Given the description of an element on the screen output the (x, y) to click on. 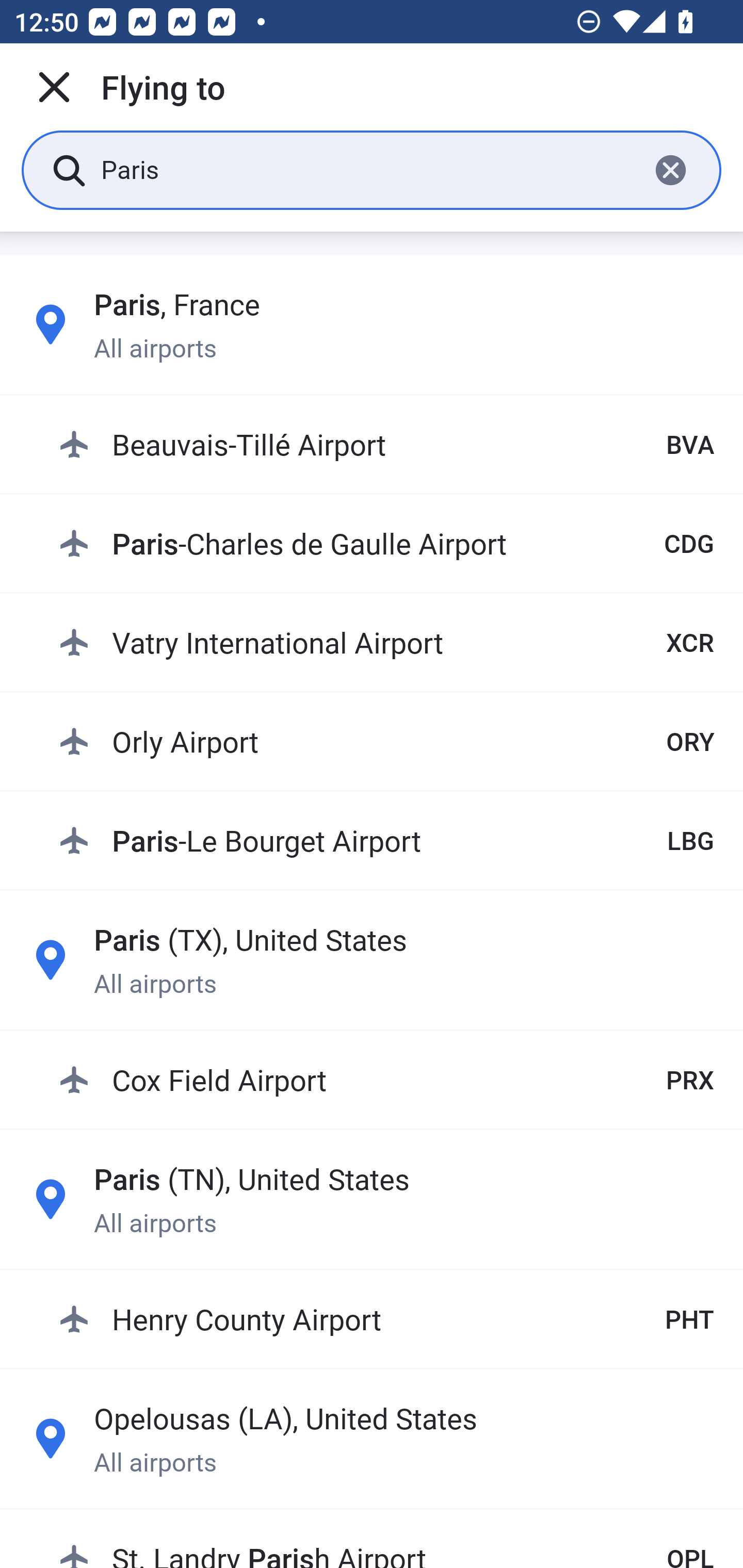
Paris (367, 169)
Paris, France All airports (371, 324)
Beauvais-Tillé Airport BVA (385, 444)
Paris-Charles de Gaulle Airport CDG (385, 543)
Vatry International Airport XCR (385, 641)
Orly Airport ORY (385, 740)
Paris-Le Bourget Airport LBG (385, 839)
Paris (TX), United States All airports (371, 960)
Cox Field Airport PRX (385, 1079)
Paris (TN), United States All airports (371, 1198)
Henry County Airport PHT (385, 1318)
Opelousas (LA), United States All airports (371, 1438)
